Given the description of an element on the screen output the (x, y) to click on. 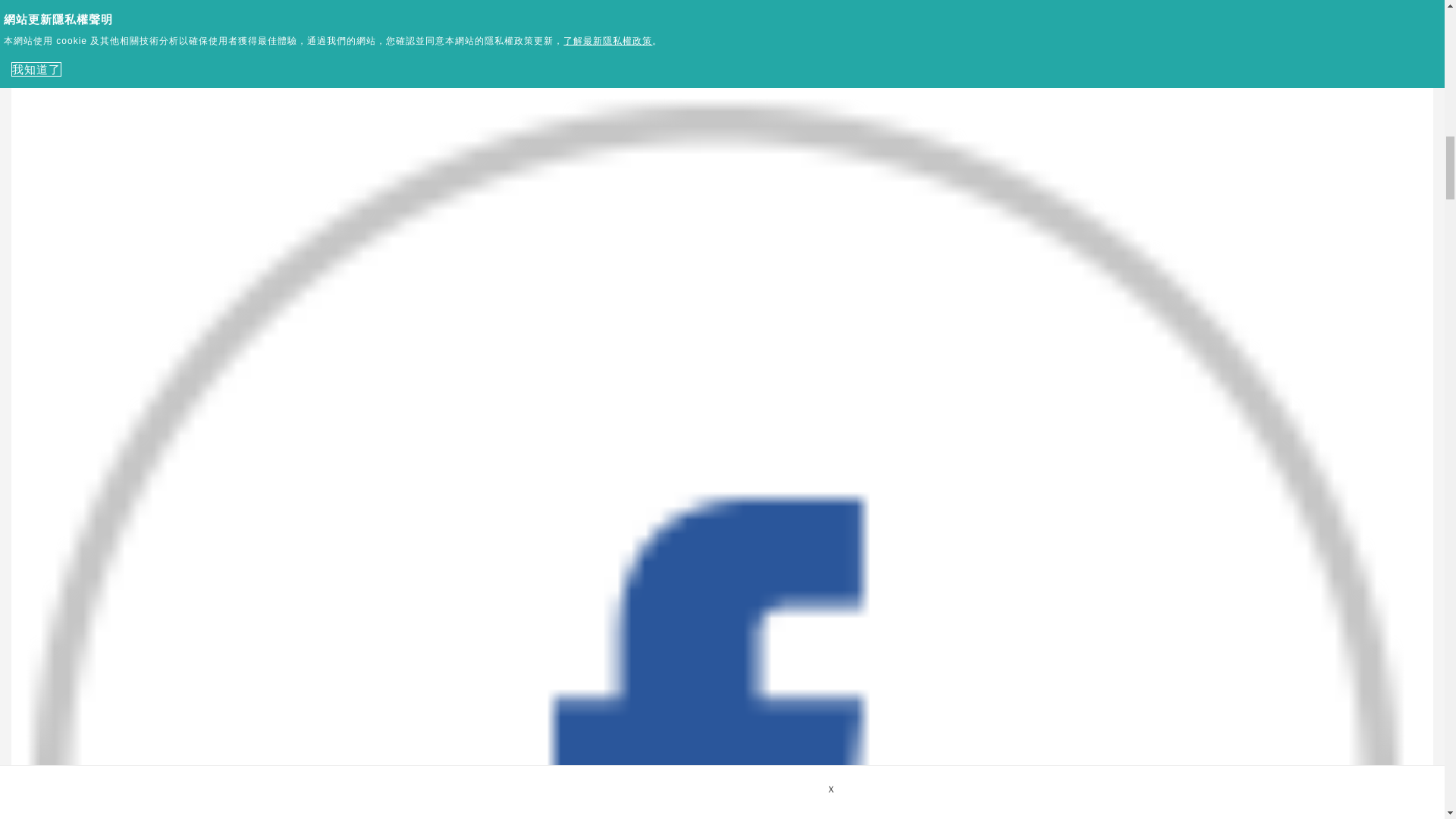
vikichou (722, 15)
